Given the description of an element on the screen output the (x, y) to click on. 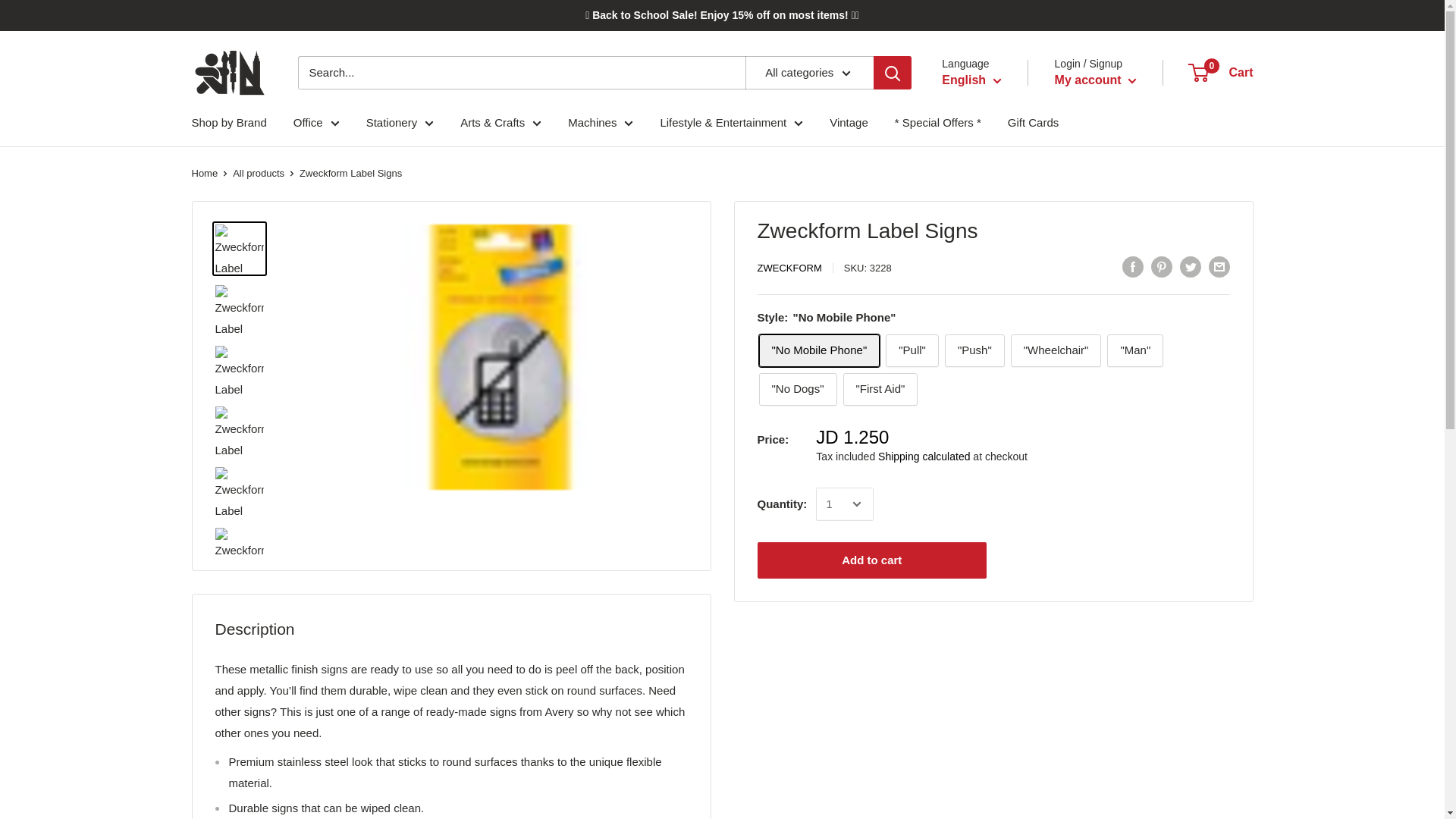
"No Mobile Phone" (818, 350)
"Man" (1134, 350)
"Wheelchair" (1056, 350)
"Push" (974, 350)
"First Aid" (880, 389)
"No Dogs" (796, 389)
"Pull" (912, 350)
